Given the description of an element on the screen output the (x, y) to click on. 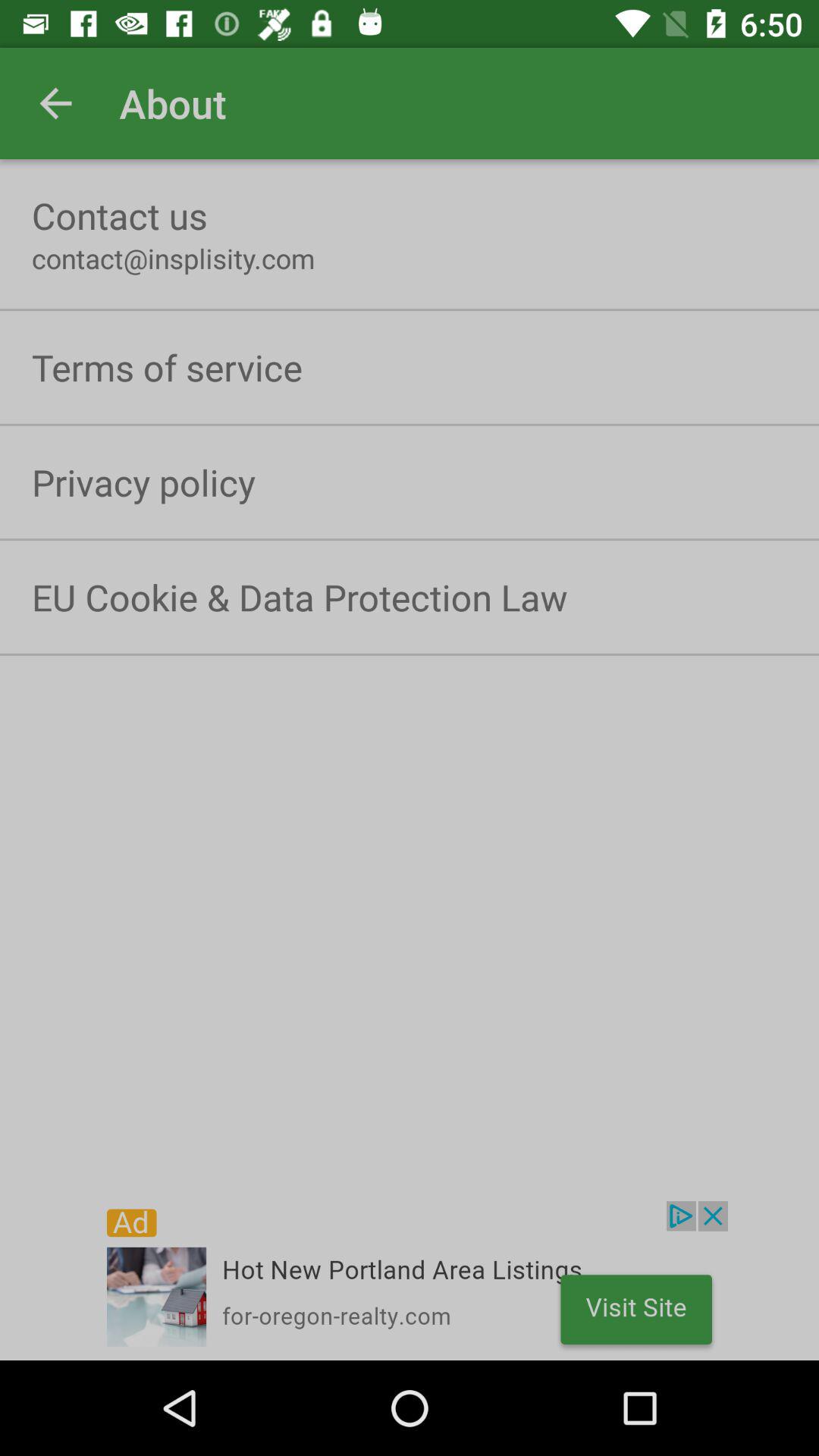
advertisement (409, 1280)
